Given the description of an element on the screen output the (x, y) to click on. 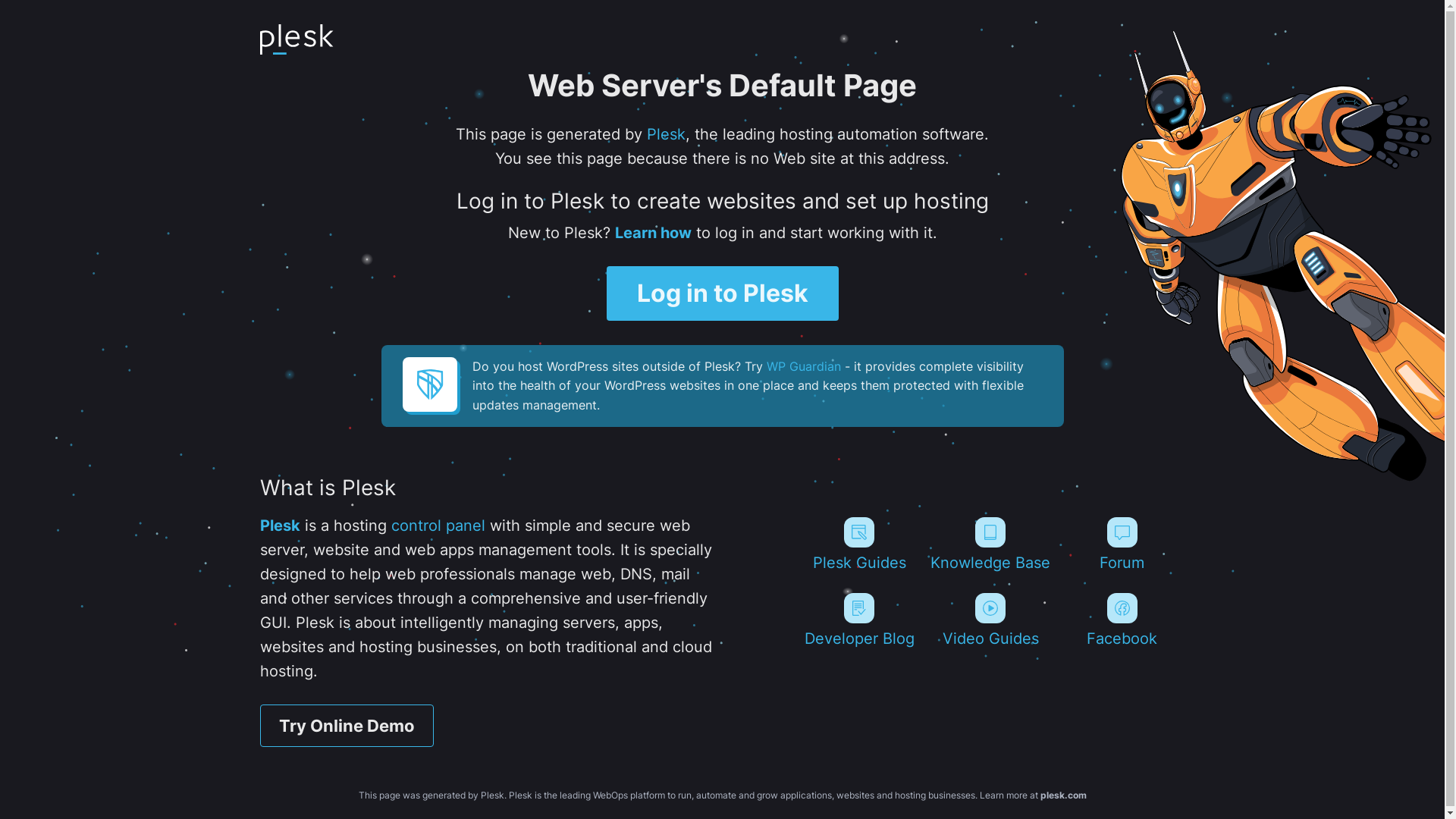
Plesk Guides Element type: text (858, 544)
Try Online Demo Element type: text (346, 725)
control panel Element type: text (438, 525)
Facebook Element type: text (1121, 620)
Knowledge Base Element type: text (990, 544)
WP Guardian Element type: text (802, 365)
Log in to Plesk Element type: text (722, 293)
Video Guides Element type: text (990, 620)
Forum Element type: text (1121, 544)
Plesk Element type: text (279, 525)
Developer Blog Element type: text (858, 620)
Plesk Element type: text (665, 134)
Learn how Element type: text (652, 232)
plesk.com Element type: text (1063, 794)
